Given the description of an element on the screen output the (x, y) to click on. 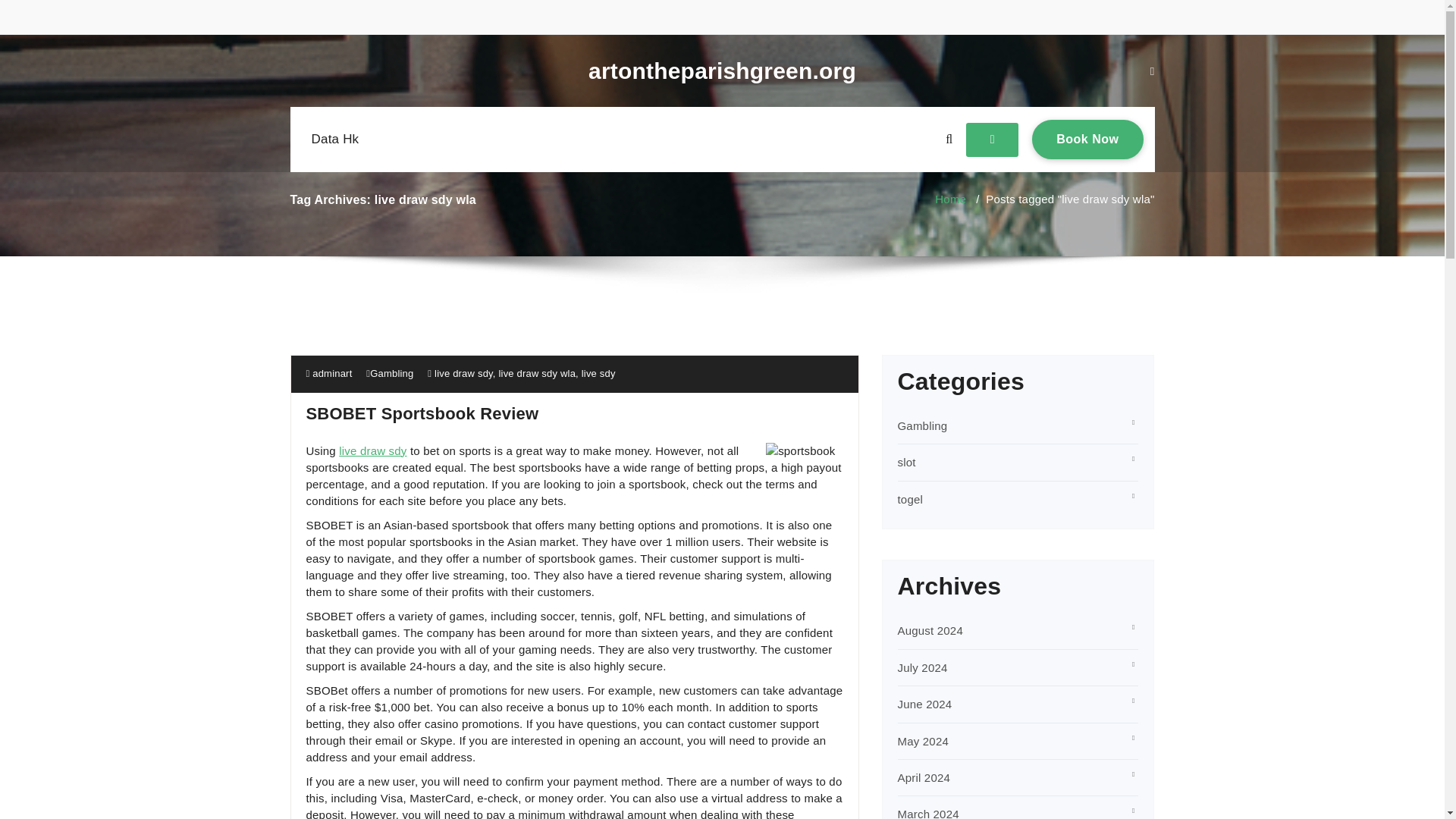
adminart (328, 373)
May 2024 (923, 740)
slot (906, 461)
Data Hk (334, 139)
SBOBET Sportsbook Review (421, 413)
July 2024 (922, 667)
artontheparishgreen.org (722, 71)
Gambling (922, 425)
live draw sdy wla (536, 373)
Home (950, 198)
Gambling (391, 373)
togel (910, 499)
August 2024 (930, 630)
March 2024 (1087, 138)
